Given the description of an element on the screen output the (x, y) to click on. 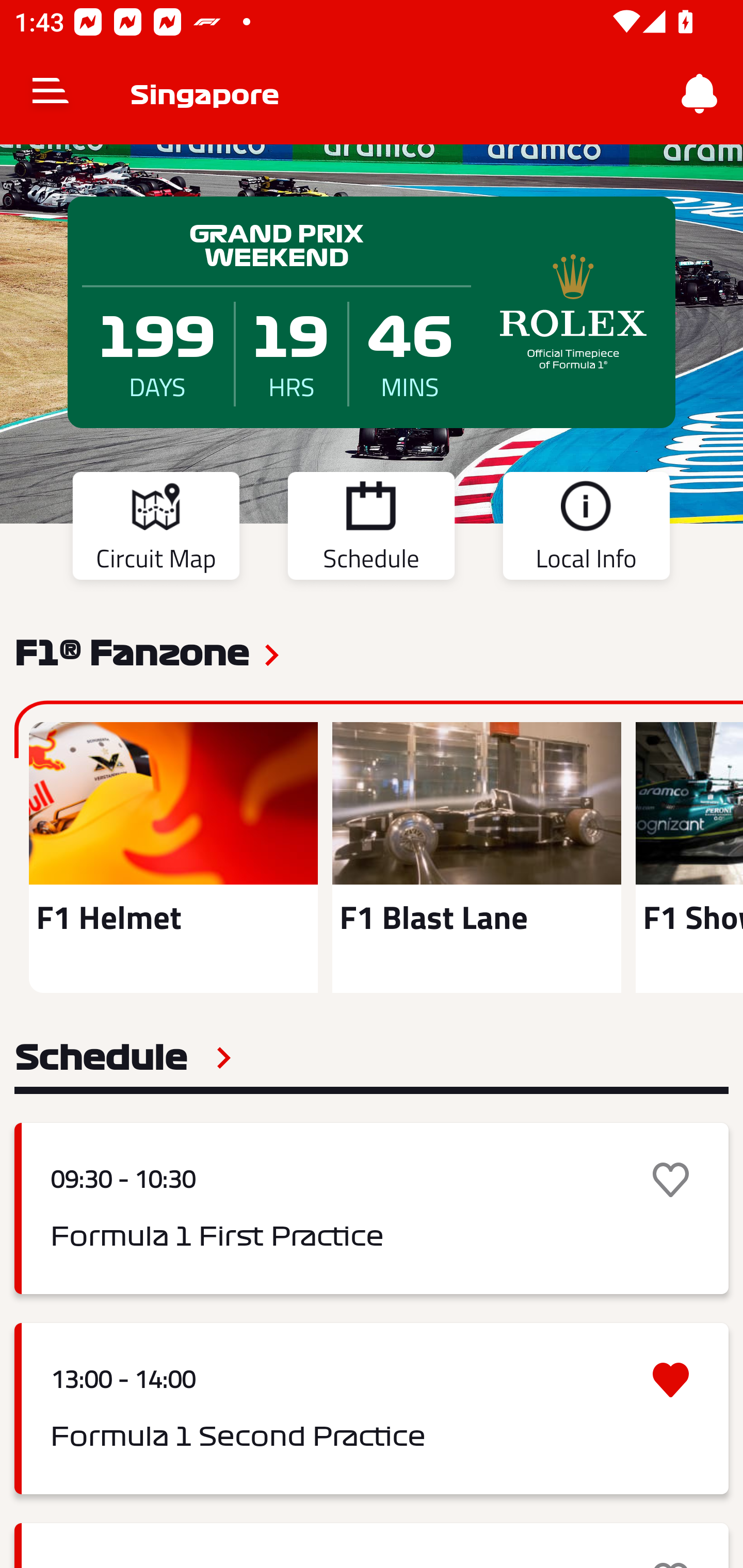
Navigate up (50, 93)
Notifications (699, 93)
Circuit Map (155, 528)
Schedule (370, 528)
Local Info (586, 528)
F1® Fanzone (131, 651)
F1 Helmet (173, 857)
F1 Blast Lane (476, 857)
Schedule (122, 1057)
09:30 - 10:30 Formula 1 First Practice (371, 1207)
13:00 - 14:00 Formula 1 Second Practice (371, 1408)
